Given the description of an element on the screen output the (x, y) to click on. 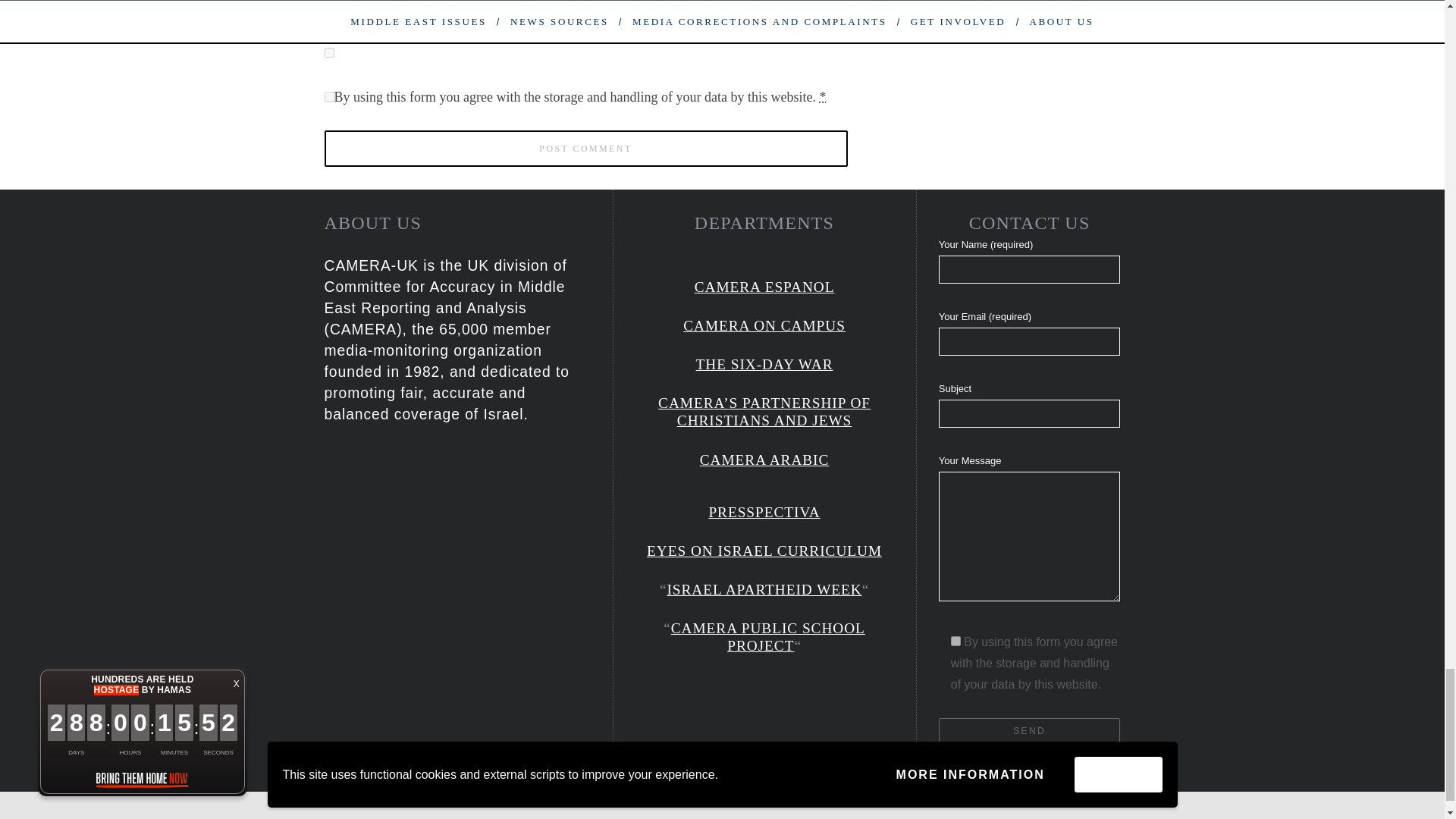
yes (329, 52)
1 (955, 641)
Post Comment (585, 148)
yes (329, 8)
